Given the description of an element on the screen output the (x, y) to click on. 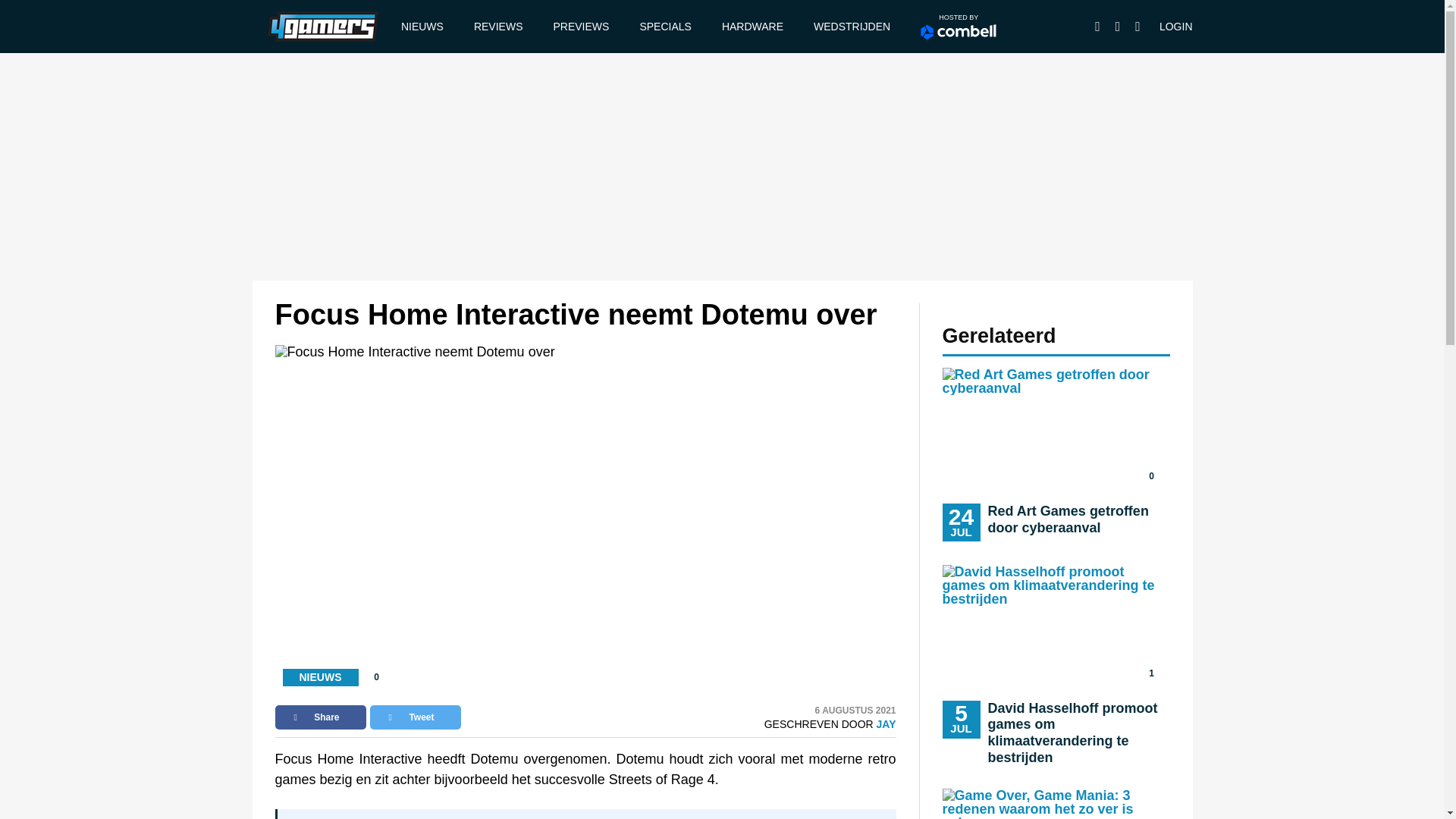
4Gamers (322, 25)
HARDWARE (752, 26)
SPECIALS (664, 26)
HOSTED BY (958, 26)
Tweet (415, 717)
WEDSTRIJDEN (1055, 454)
JAY (852, 26)
Hosting en Webhosting bij Combell (886, 724)
Share (957, 31)
PREVIEWS (320, 717)
Discord (579, 26)
0 (1097, 26)
